Given the description of an element on the screen output the (x, y) to click on. 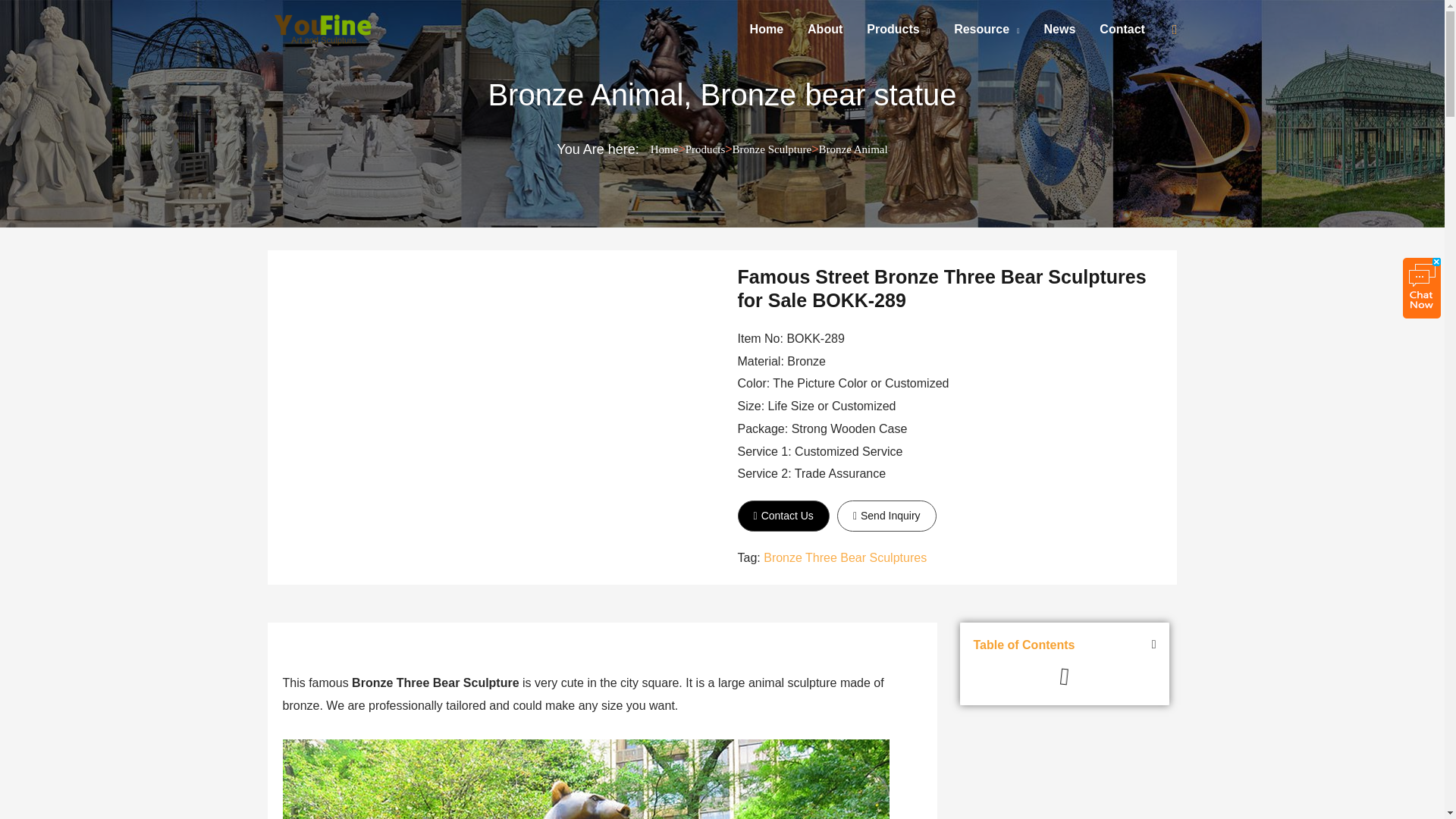
About (824, 29)
Home (766, 29)
Products (898, 29)
00000000bear (585, 779)
